Given the description of an element on the screen output the (x, y) to click on. 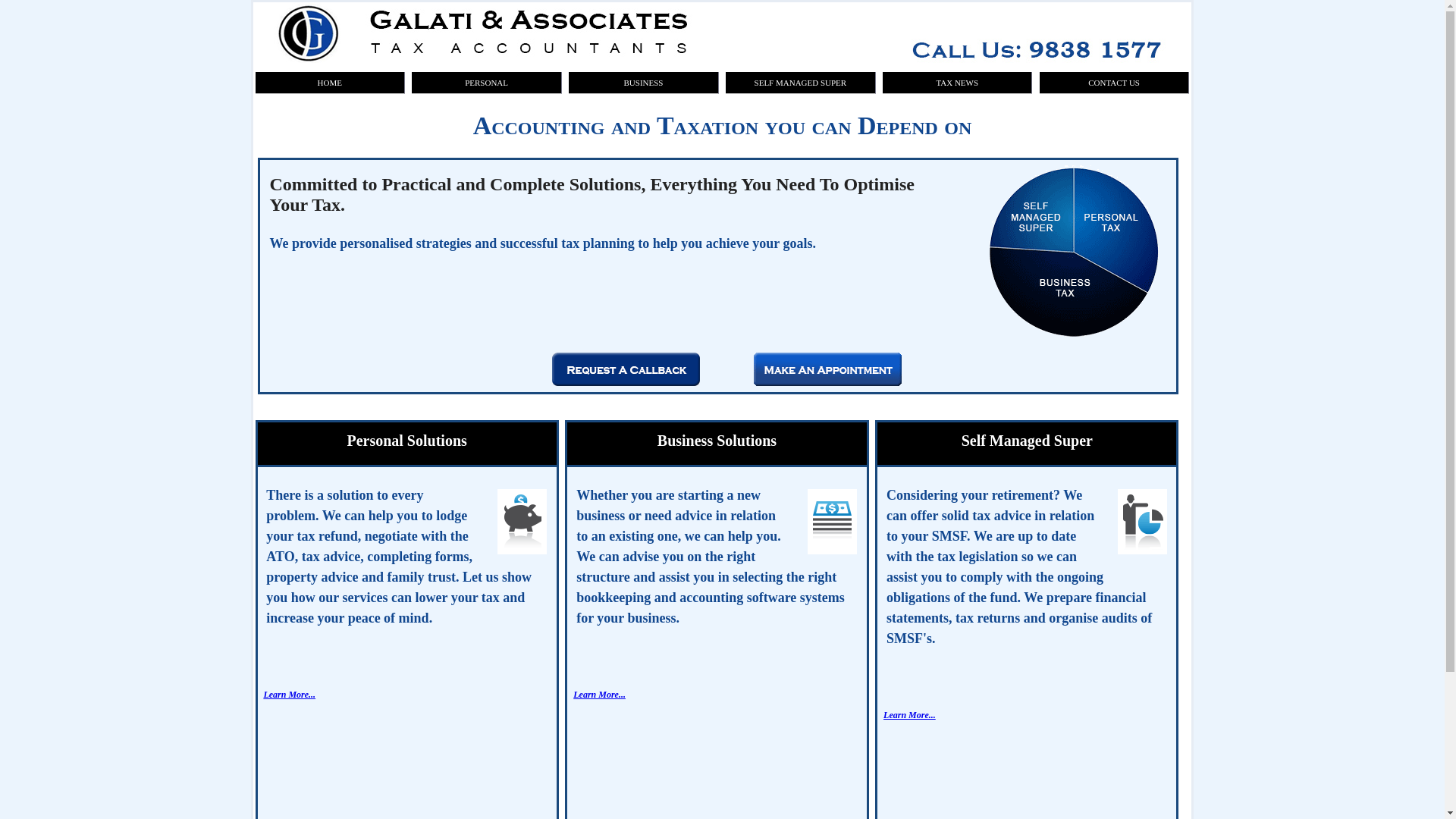
Learn More... Element type: text (289, 694)
PERSONAL Element type: text (486, 83)
HOME Element type: text (329, 83)
BUSINESS Element type: text (643, 83)
Learn More... Element type: text (599, 694)
CONTACT US Element type: text (1114, 83)
SELF MANAGED SUPER Element type: text (800, 83)
Learn More... Element type: text (909, 714)
TAX NEWS Element type: text (957, 83)
